Given the description of an element on the screen output the (x, y) to click on. 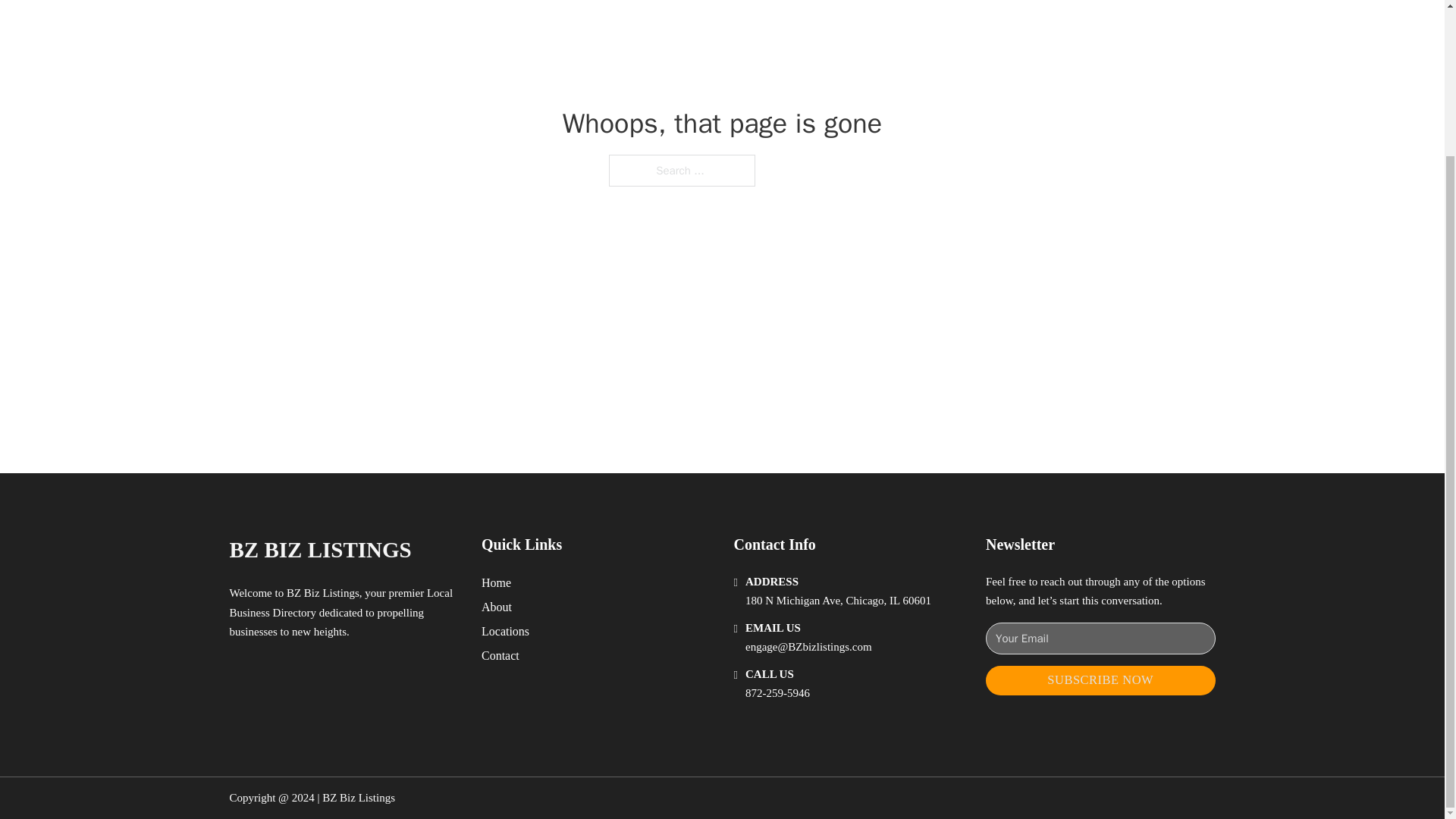
Contact (500, 655)
SUBSCRIBE NOW (1100, 680)
872-259-5946 (777, 693)
BZ BIZ LISTINGS (319, 549)
Locations (505, 630)
About (496, 607)
Home (496, 582)
